Given the description of an element on the screen output the (x, y) to click on. 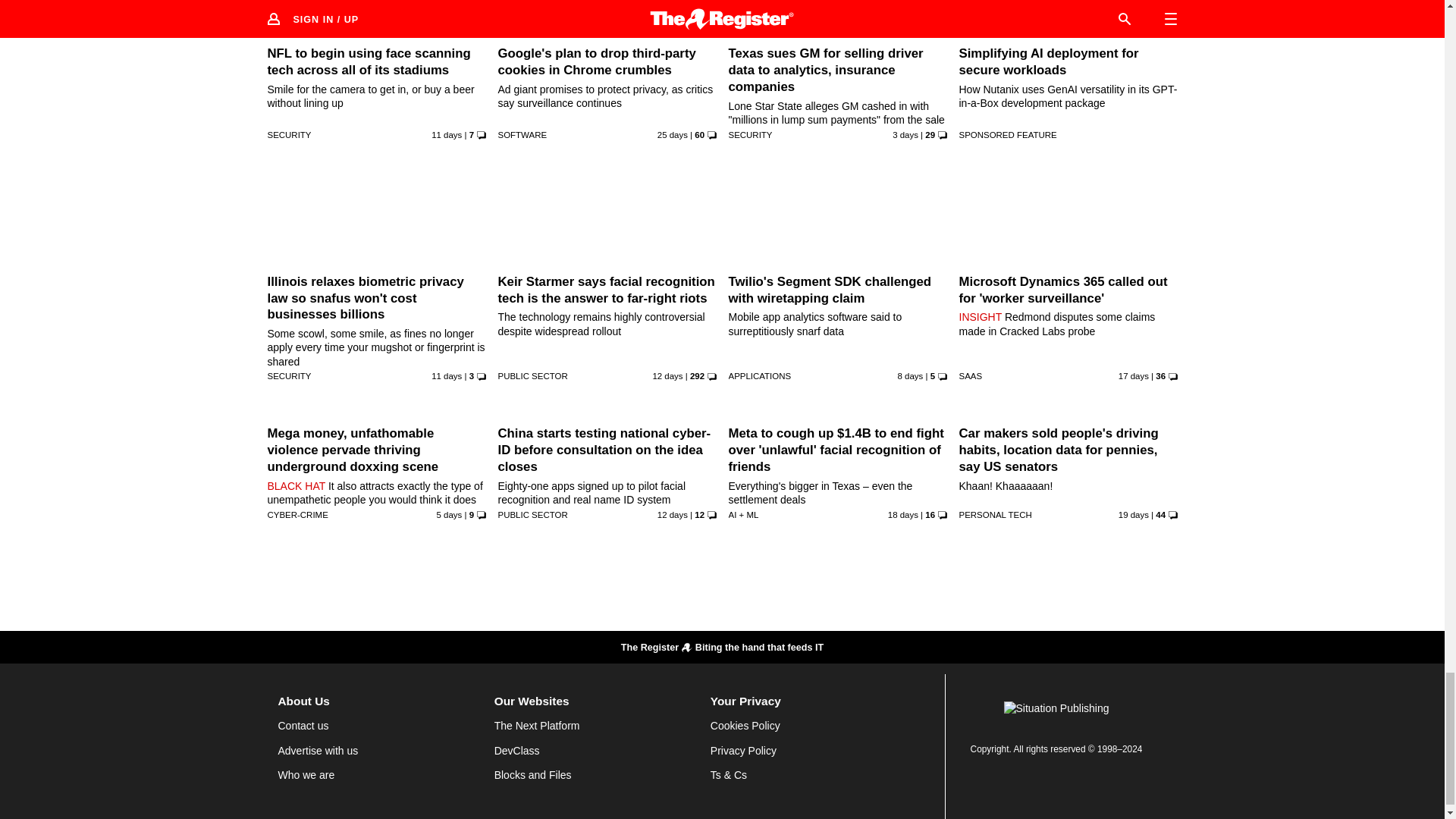
5 Aug 2024 9:24 (667, 375)
23 Jul 2024 0:3 (672, 134)
9 Aug 2024 23:28 (910, 375)
6 Aug 2024 2:45 (445, 375)
12 Aug 2024 14:24 (449, 514)
31 Jul 2024 7:39 (1133, 375)
6 Aug 2024 1:43 (445, 134)
14 Aug 2024 18:6 (905, 134)
